Given the description of an element on the screen output the (x, y) to click on. 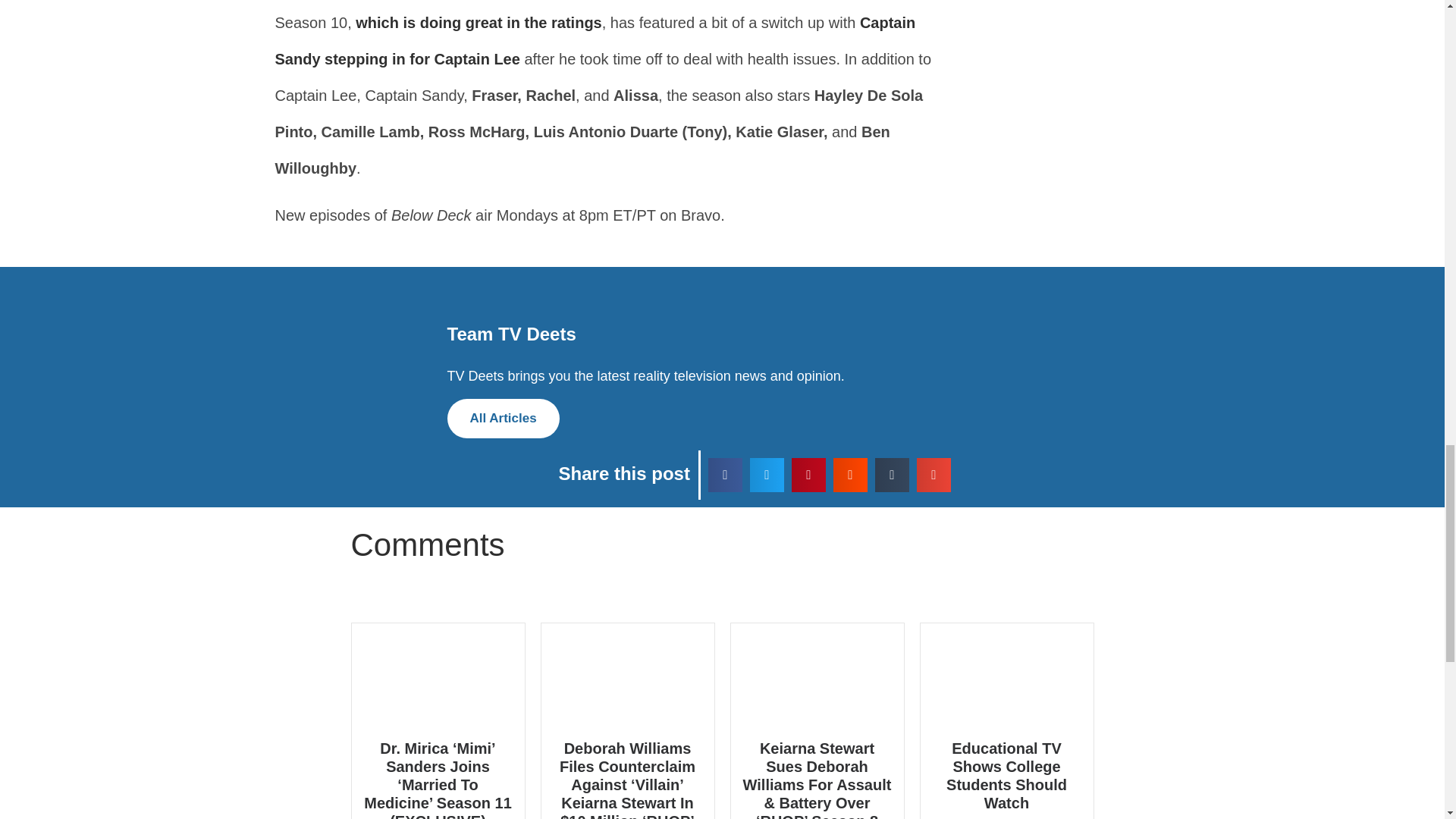
Educational TV Shows College Students Should Watch (1006, 775)
